Given the description of an element on the screen output the (x, y) to click on. 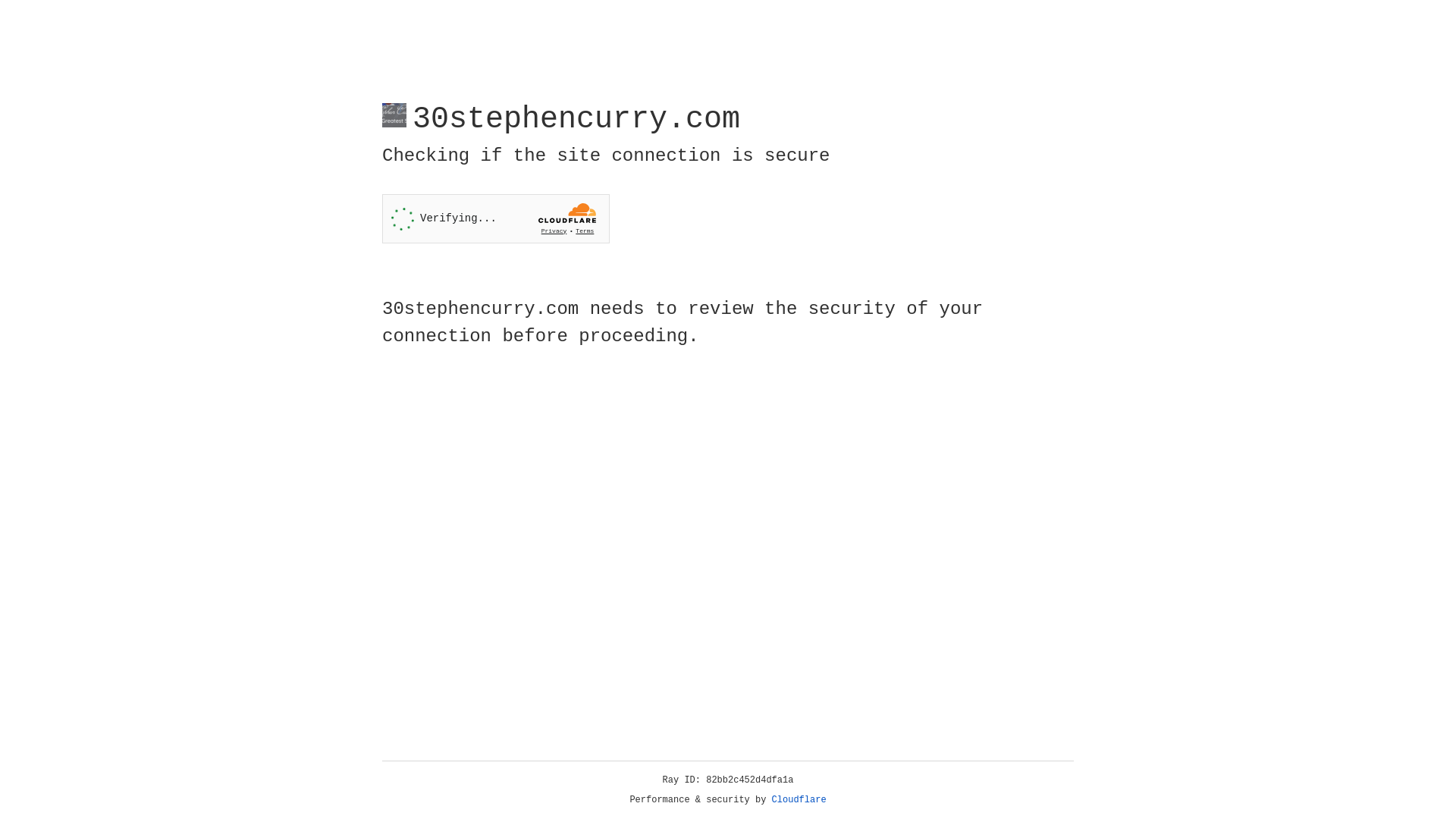
Cloudflare Element type: text (798, 799)
Widget containing a Cloudflare security challenge Element type: hover (495, 218)
